Given the description of an element on the screen output the (x, y) to click on. 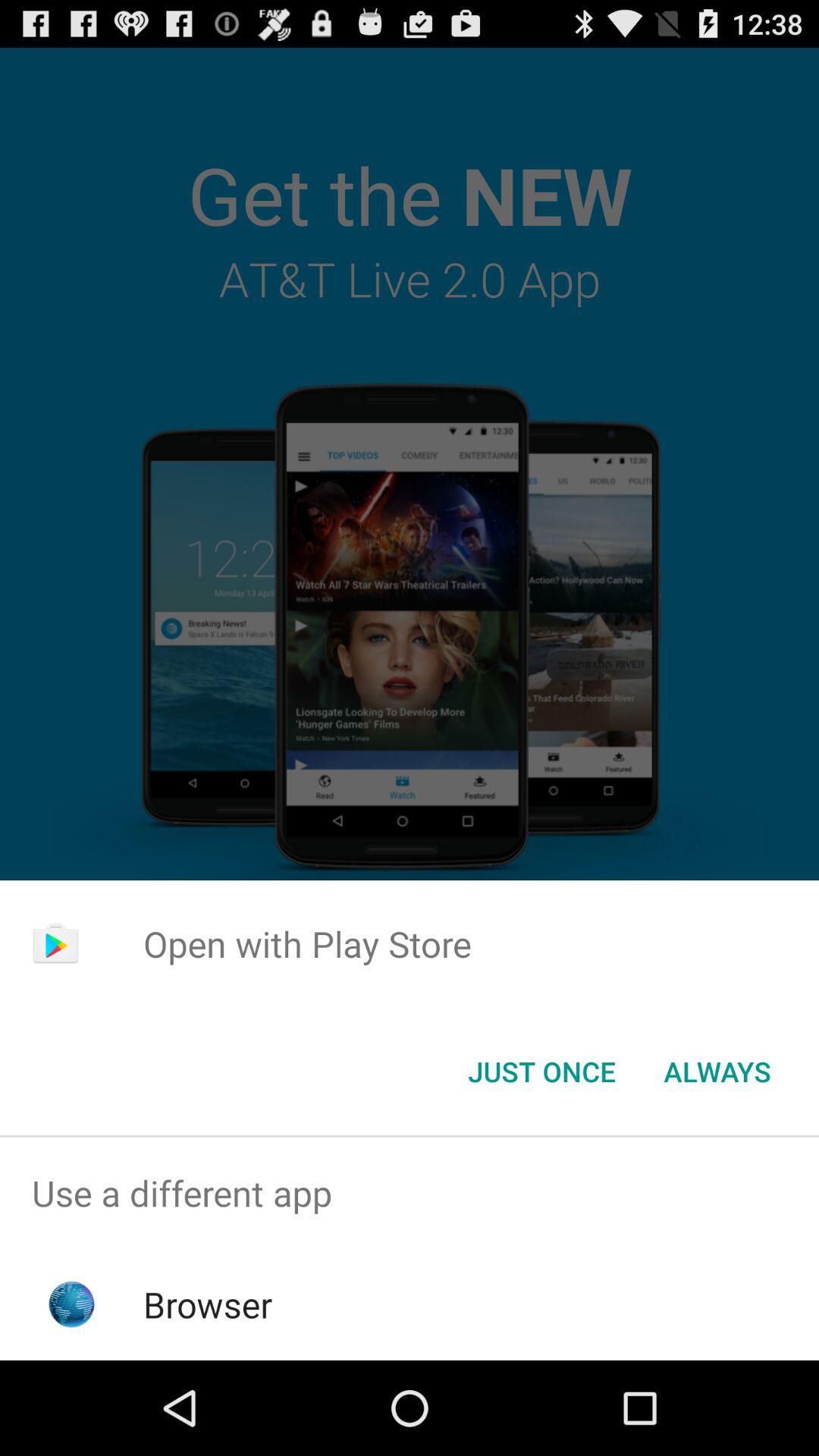
open the app below the use a different (207, 1304)
